Given the description of an element on the screen output the (x, y) to click on. 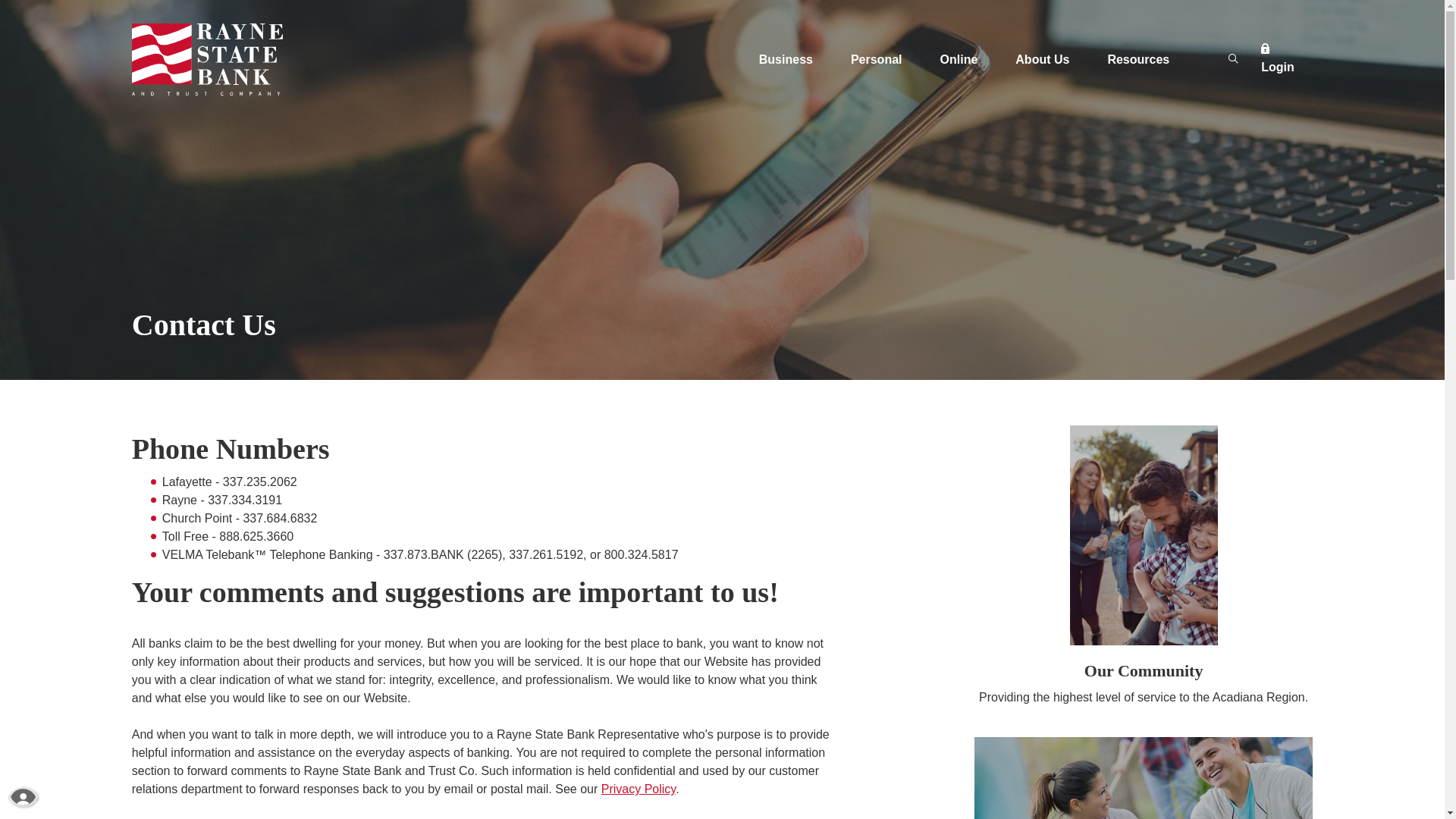
Rayne State Bank & Trust Co., Rayne, LA Element type: hover (206, 58)
Open Search Element type: text (1232, 59)
Privacy Policy Element type: text (638, 788)
Login Element type: text (1179, 344)
